Given the description of an element on the screen output the (x, y) to click on. 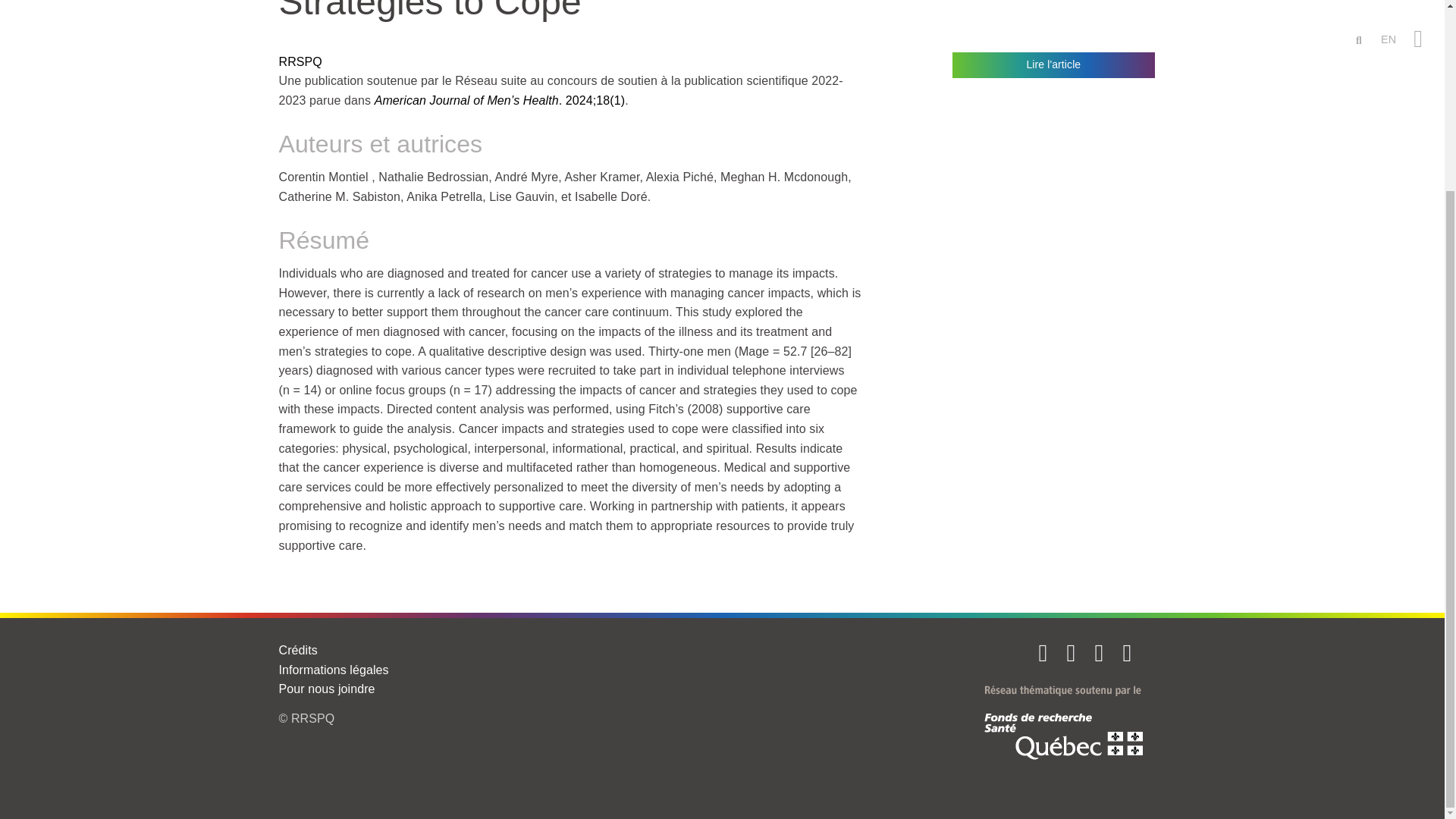
Suivez-nous sur Facebook (1072, 651)
Contactez-nous (1101, 651)
Suivez-nous sur Twitter (1044, 651)
Connexion (1128, 651)
